Given the description of an element on the screen output the (x, y) to click on. 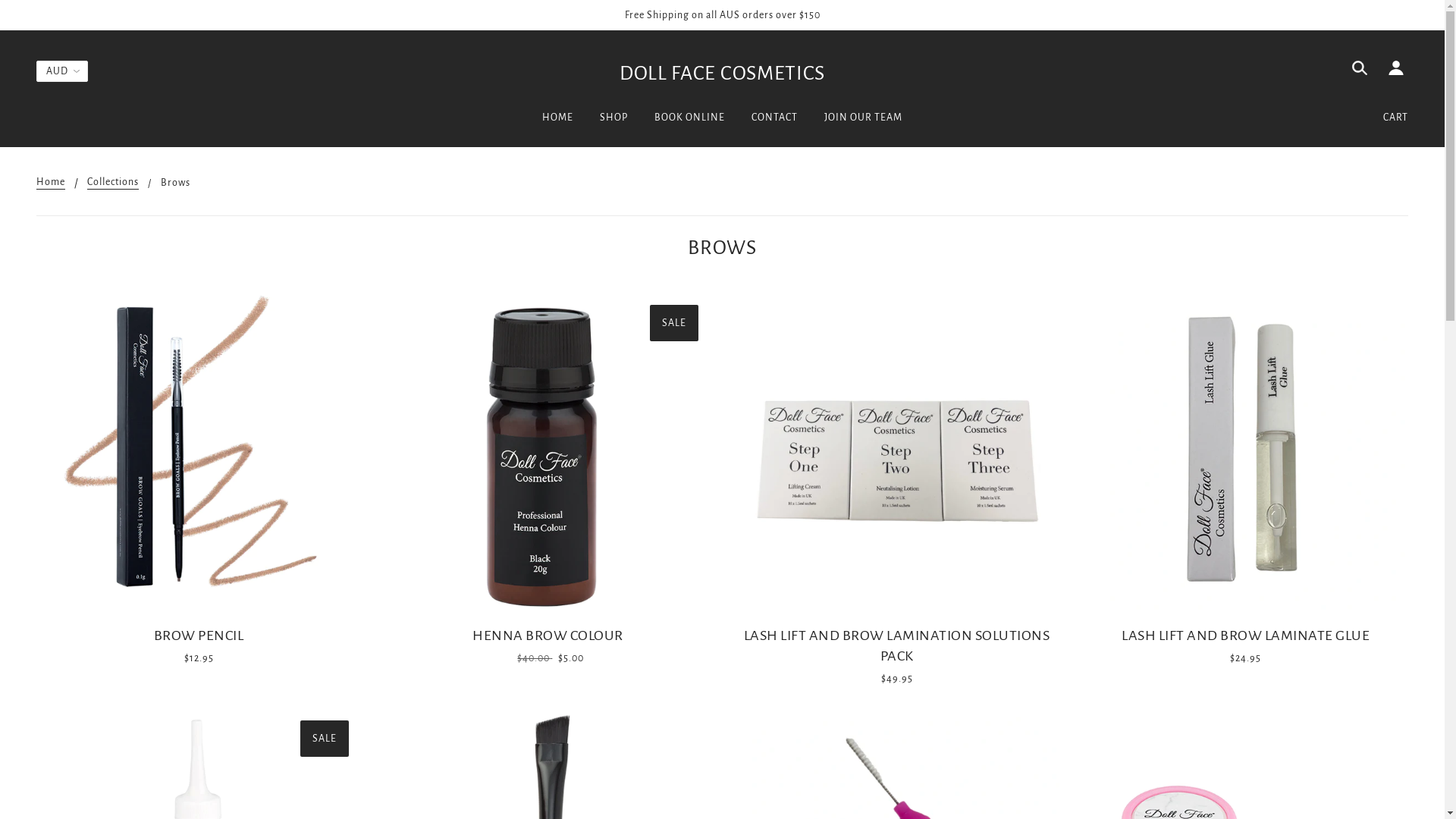
Collections Element type: text (112, 181)
$24.95 Element type: text (1245, 657)
SHOP Element type: text (613, 123)
LASH LIFT AND BROW LAMINATION SOLUTIONS PACK Element type: text (896, 649)
$12.95 Element type: text (198, 657)
CONTACT Element type: text (774, 123)
DOLL FACE COSMETICS Element type: text (722, 73)
JOIN OUR TEAM Element type: text (863, 123)
$49.95 Element type: text (896, 677)
CART Element type: text (1395, 117)
HENNA BROW COLOUR Element type: text (547, 640)
Home Element type: text (50, 181)
$40.00 $5.00 Element type: text (547, 657)
LASH LIFT AND BROW LAMINATE GLUE Element type: text (1245, 640)
BROW PENCIL Element type: text (198, 640)
HOME Element type: text (557, 123)
BOOK ONLINE Element type: text (689, 123)
